Given the description of an element on the screen output the (x, y) to click on. 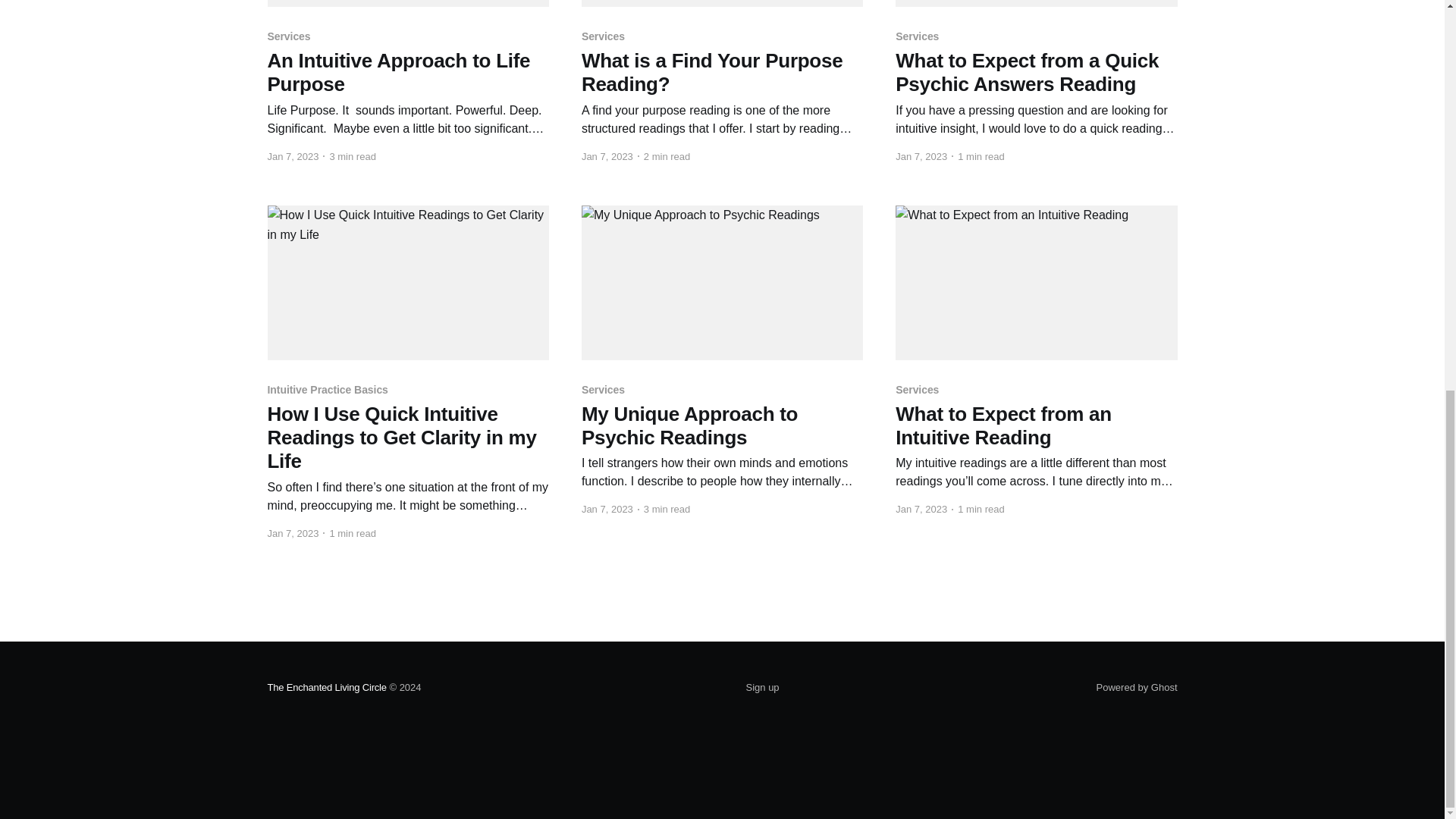
The Enchanted Living Circle (325, 686)
Sign up (761, 687)
Powered by Ghost (1136, 686)
